Given the description of an element on the screen output the (x, y) to click on. 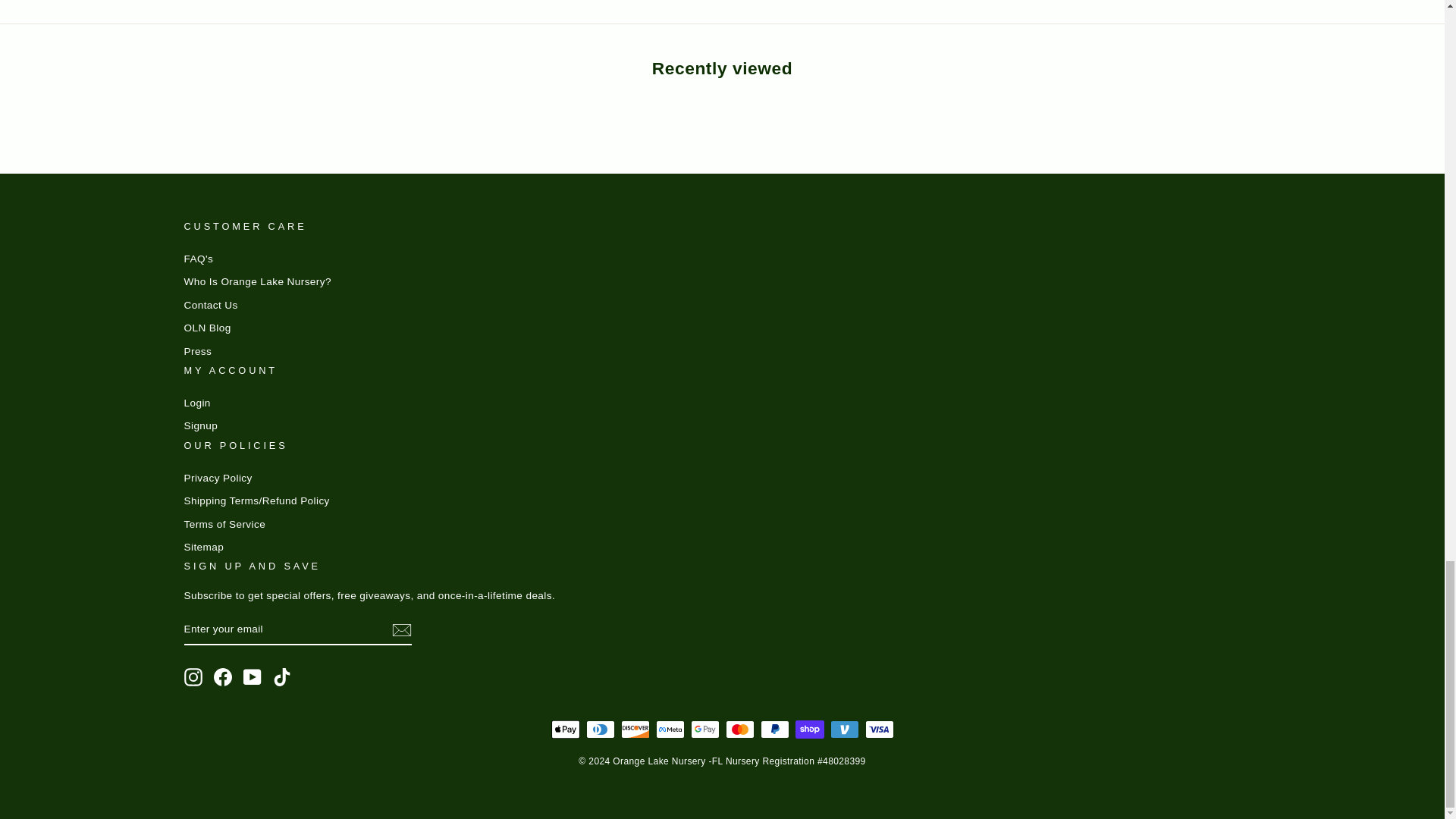
Orange Lake Nursery on TikTok (282, 677)
Google Pay (704, 729)
Orange Lake Nursery on Instagram (192, 677)
Discover (634, 729)
Orange Lake Nursery on Facebook (222, 677)
Mastercard (739, 729)
Diners Club (599, 729)
Orange Lake Nursery on YouTube (251, 677)
Meta Pay (669, 729)
Apple Pay (564, 729)
